Given the description of an element on the screen output the (x, y) to click on. 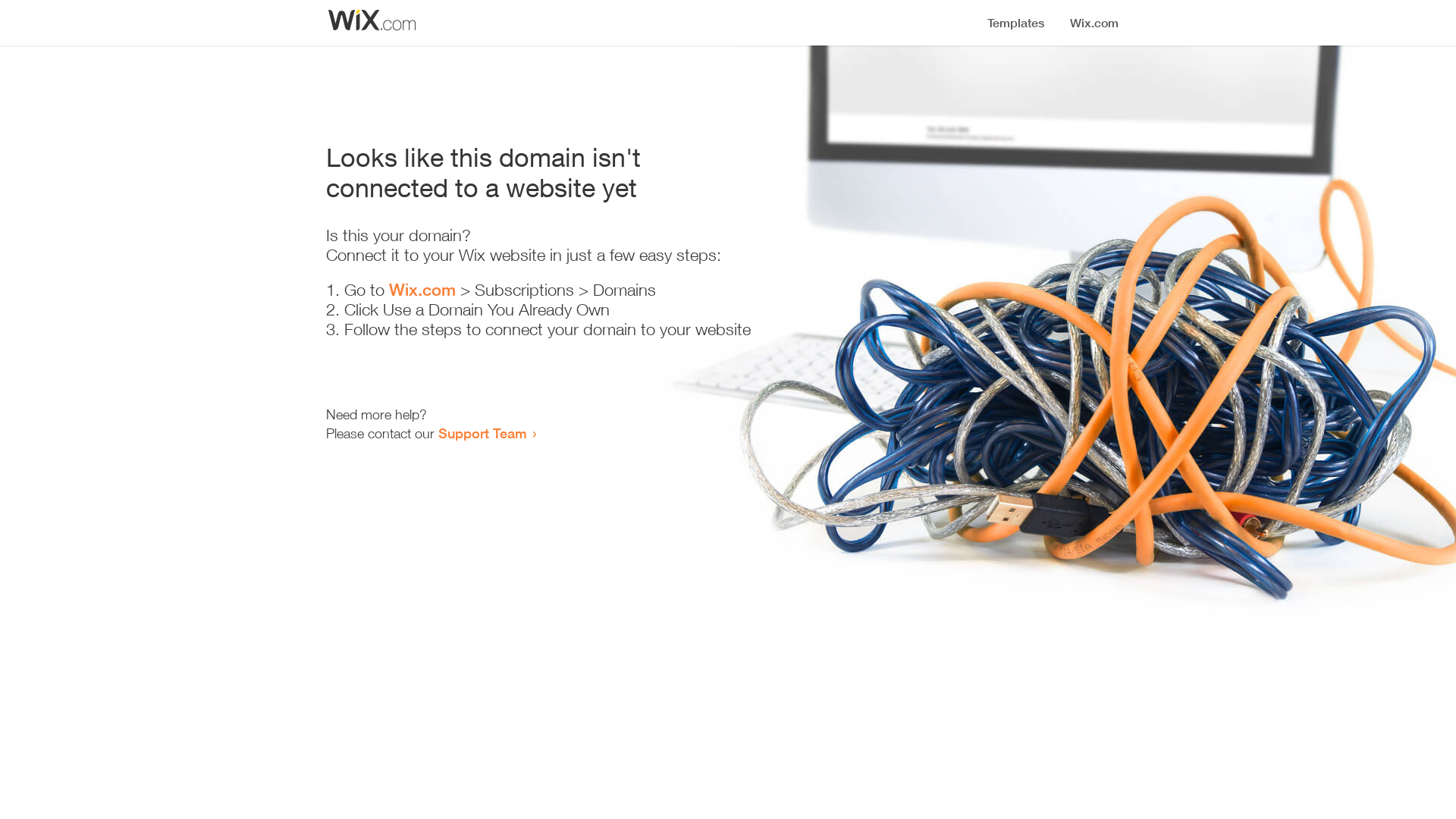
Wix.com Element type: text (422, 289)
Support Team Element type: text (482, 432)
